Given the description of an element on the screen output the (x, y) to click on. 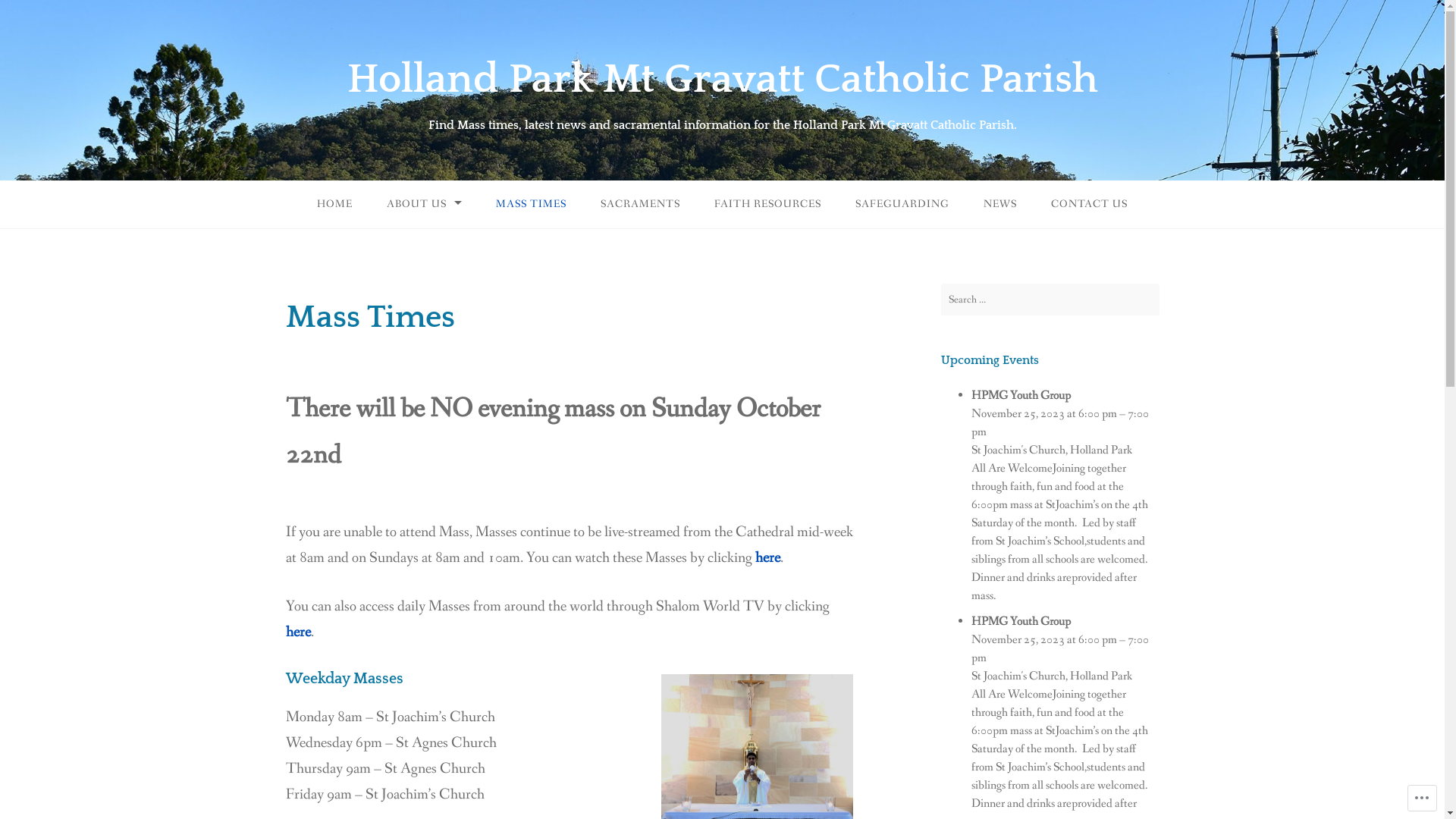
here Element type: text (297, 632)
CONTACT US Element type: text (1089, 204)
NEWS Element type: text (999, 204)
ABOUT US Element type: text (423, 204)
HOME Element type: text (334, 204)
SACRAMENTS Element type: text (640, 204)
FAITH RESOURCES Element type: text (767, 204)
SAFEGUARDING Element type: text (902, 204)
MASS TIMES Element type: text (531, 204)
Holland Park Mt Gravatt Catholic Parish Element type: text (722, 79)
Search Element type: text (27, 15)
here Element type: text (767, 557)
